Given the description of an element on the screen output the (x, y) to click on. 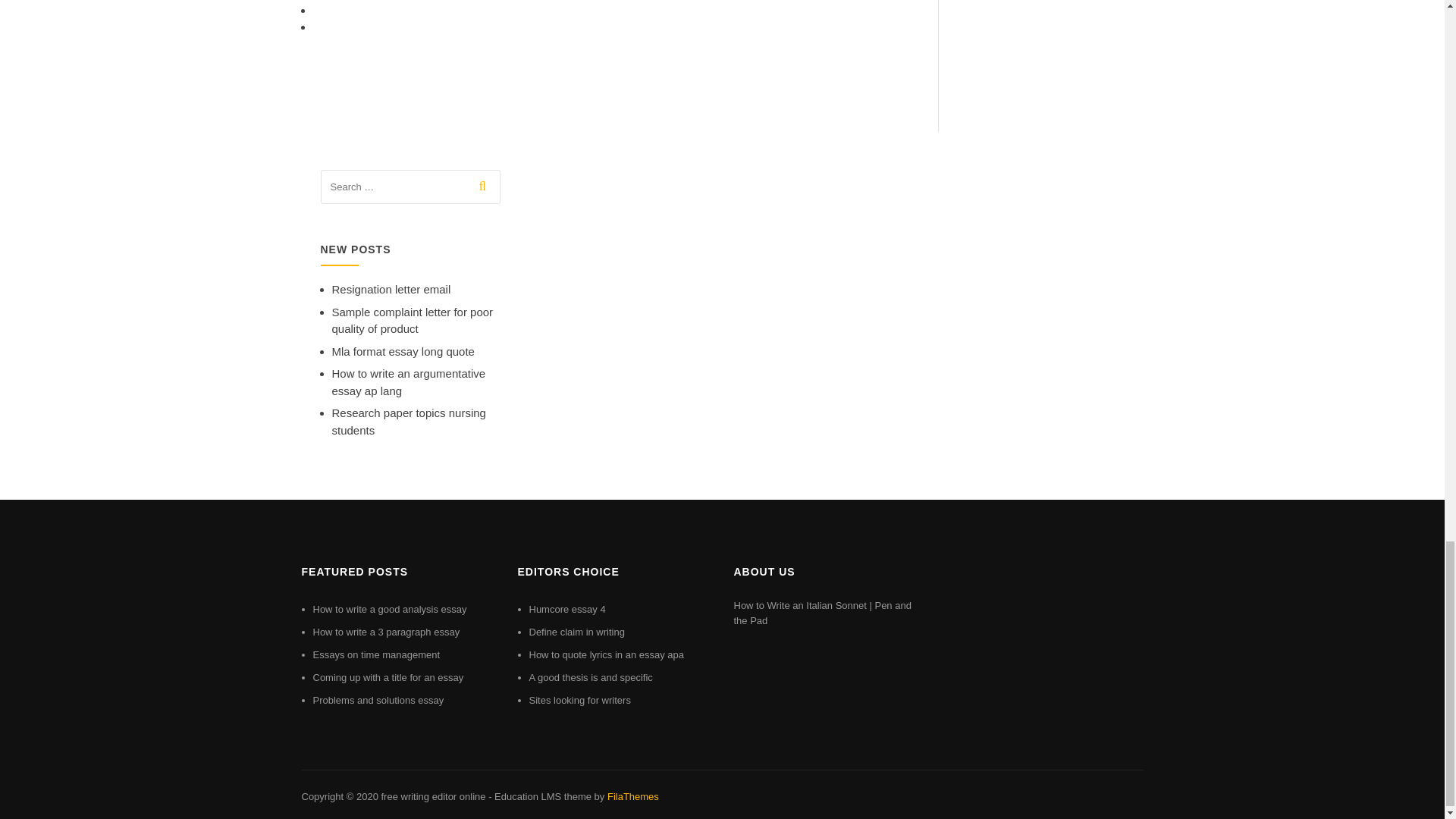
Research paper topics nursing students (408, 421)
Sites looking for writers (579, 699)
How to write a 3 paragraph essay (386, 632)
How to write a good analysis essay (389, 609)
Problems and solutions essay (378, 699)
Define claim in writing (576, 632)
A good thesis is and specific (590, 677)
free writing editor online (432, 796)
Mla format essay long quote (402, 350)
How to quote lyrics in an essay apa (606, 654)
